Given the description of an element on the screen output the (x, y) to click on. 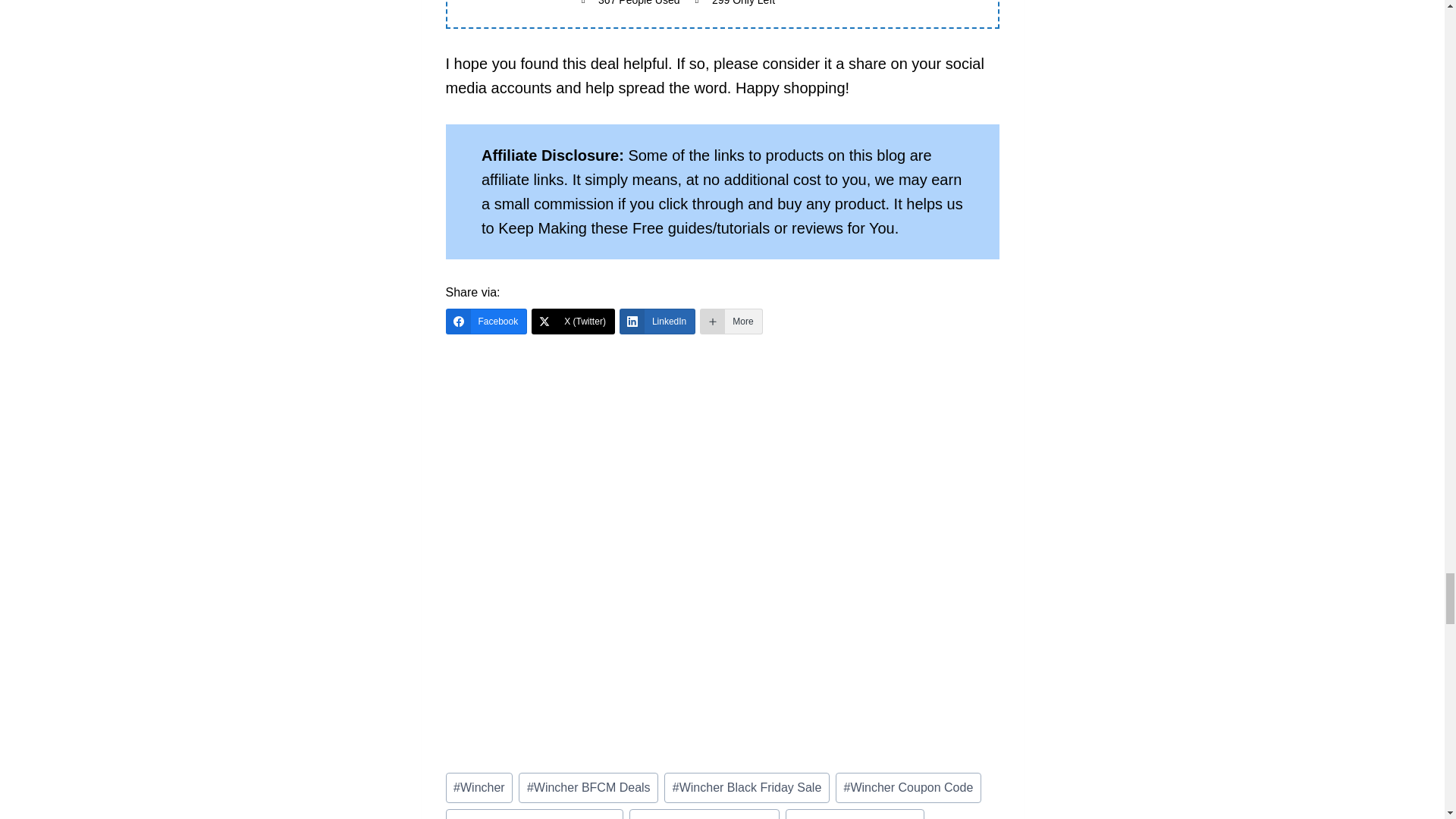
Wincher BFCM Deals (588, 788)
Hostinger Web Hosting (721, 559)
Wincher (479, 788)
Wincher Promo Code (855, 814)
Wincher Black Friday Sale (746, 788)
Wincher Discount Code (703, 814)
WIncher Cyber Monday Sale (534, 814)
pCloud Premium (721, 431)
Wincher Coupon Code (908, 788)
